Given the description of an element on the screen output the (x, y) to click on. 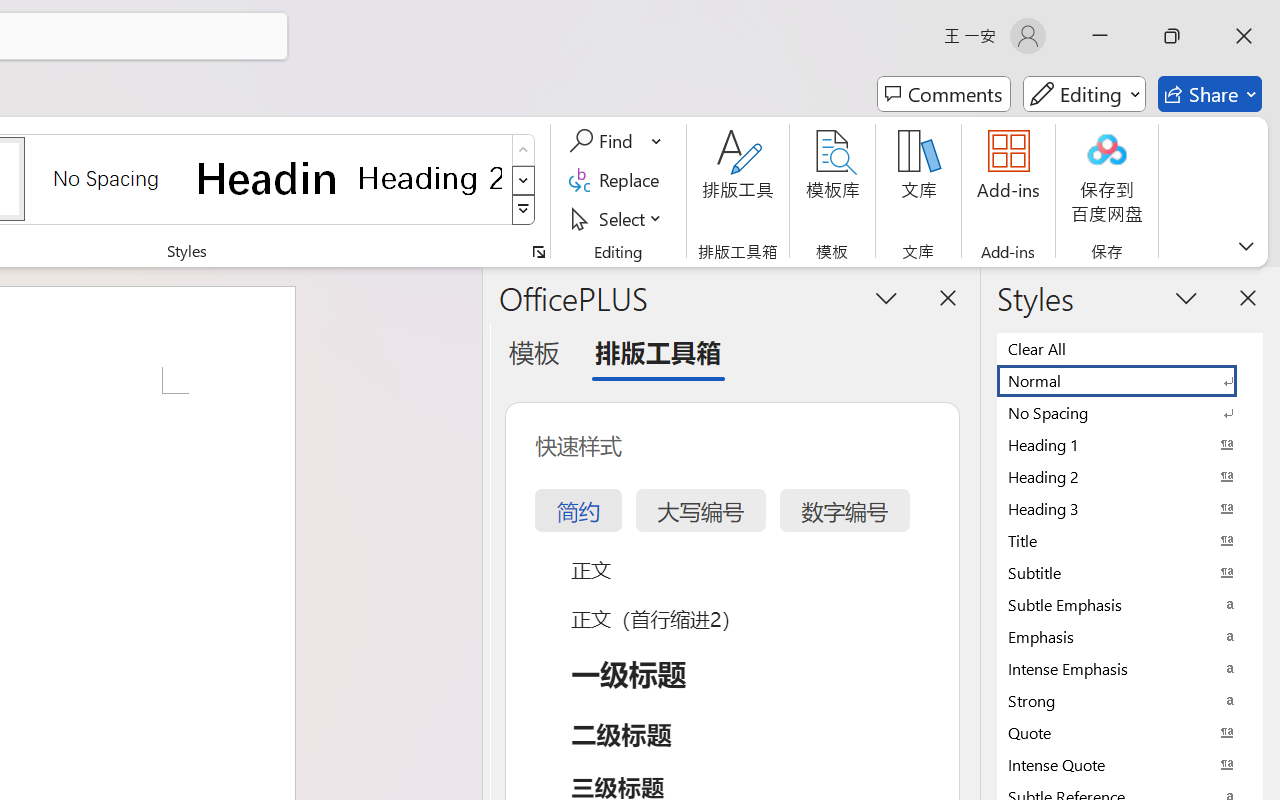
Ribbon Display Options (1246, 245)
More Options (657, 141)
Intense Quote (1130, 764)
Title (1130, 540)
Share (1210, 94)
Find (616, 141)
Intense Emphasis (1130, 668)
Row Down (523, 180)
Styles (523, 209)
